Given the description of an element on the screen output the (x, y) to click on. 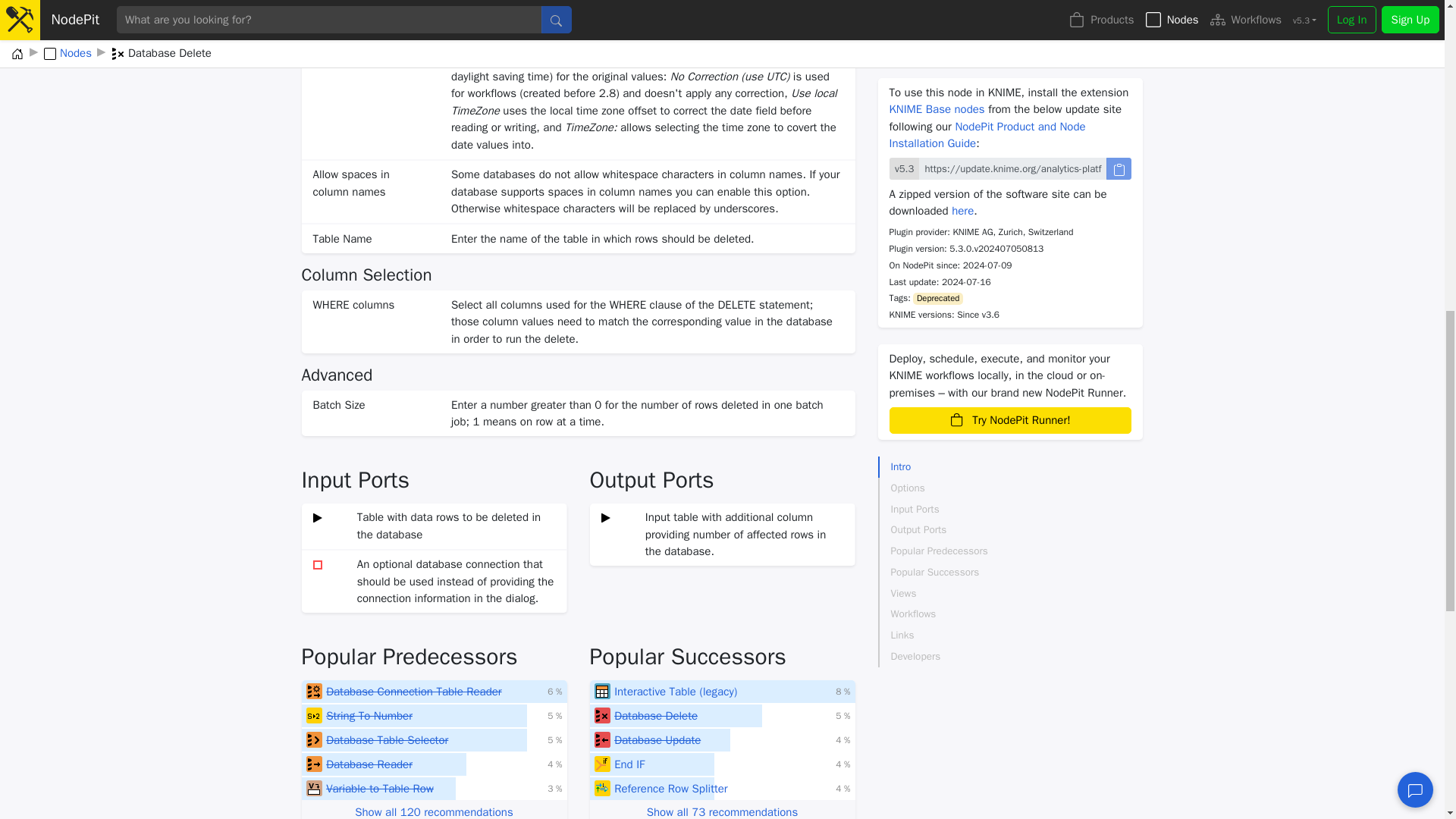
Port 0: Data to delete row in Database (318, 517)
Absolute count: 17 x (842, 691)
Manipulator (314, 715)
Source (314, 691)
Absolute count: 26 x (554, 691)
Other (314, 788)
Absolute count: 22 x (554, 715)
Optional port 1: Database connection (318, 563)
Sink (602, 715)
Absolute count: 15 x (554, 788)
Absolute count: 11 x (842, 715)
Source (314, 740)
Visualizer (602, 691)
Source (314, 764)
Absolute count: 16 x (554, 764)
